Given the description of an element on the screen output the (x, y) to click on. 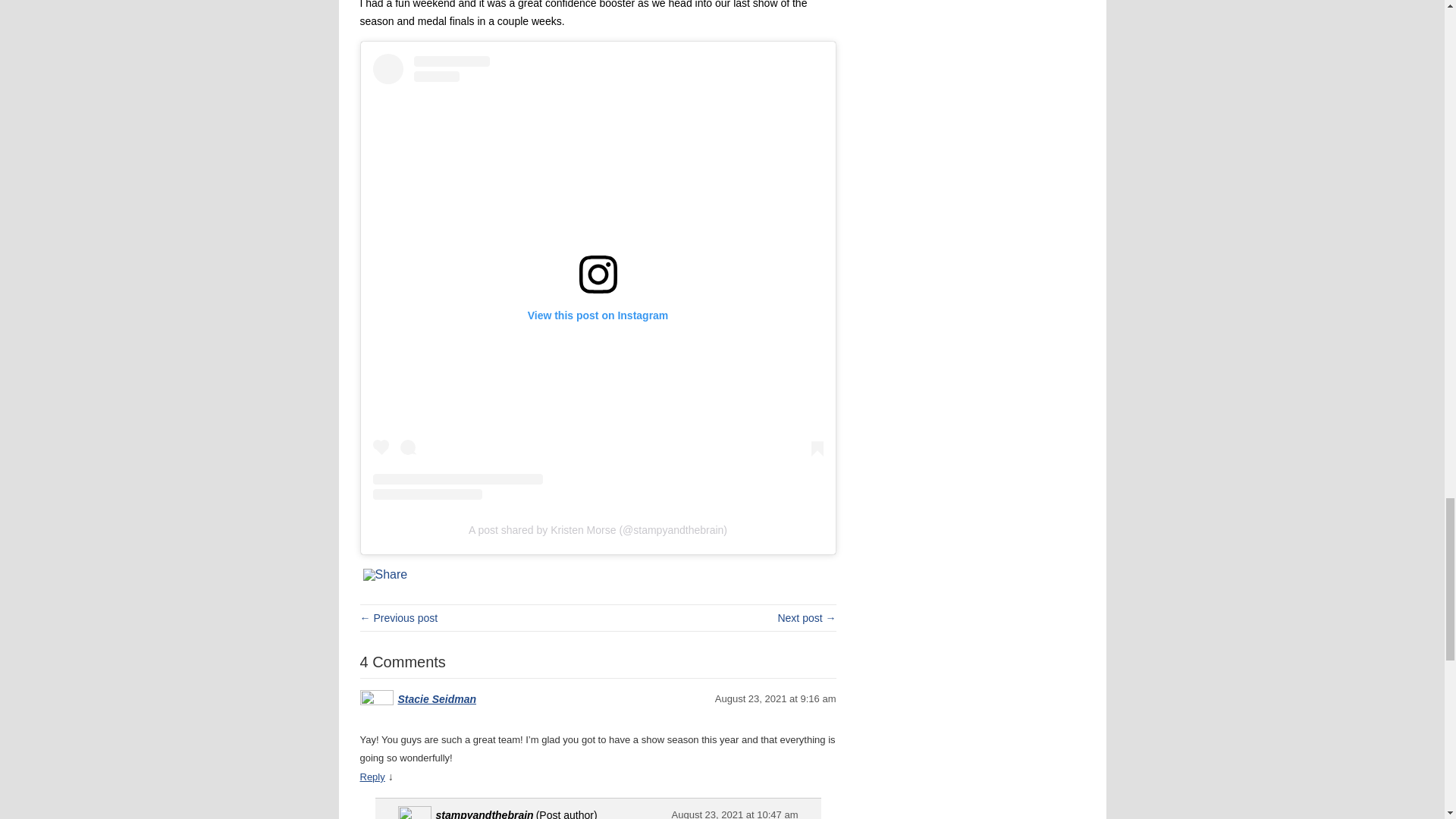
Reply (371, 776)
Stacie Seidman (436, 698)
Finals show 2021 (806, 617)
MV Show 2021 (398, 617)
